Given the description of an element on the screen output the (x, y) to click on. 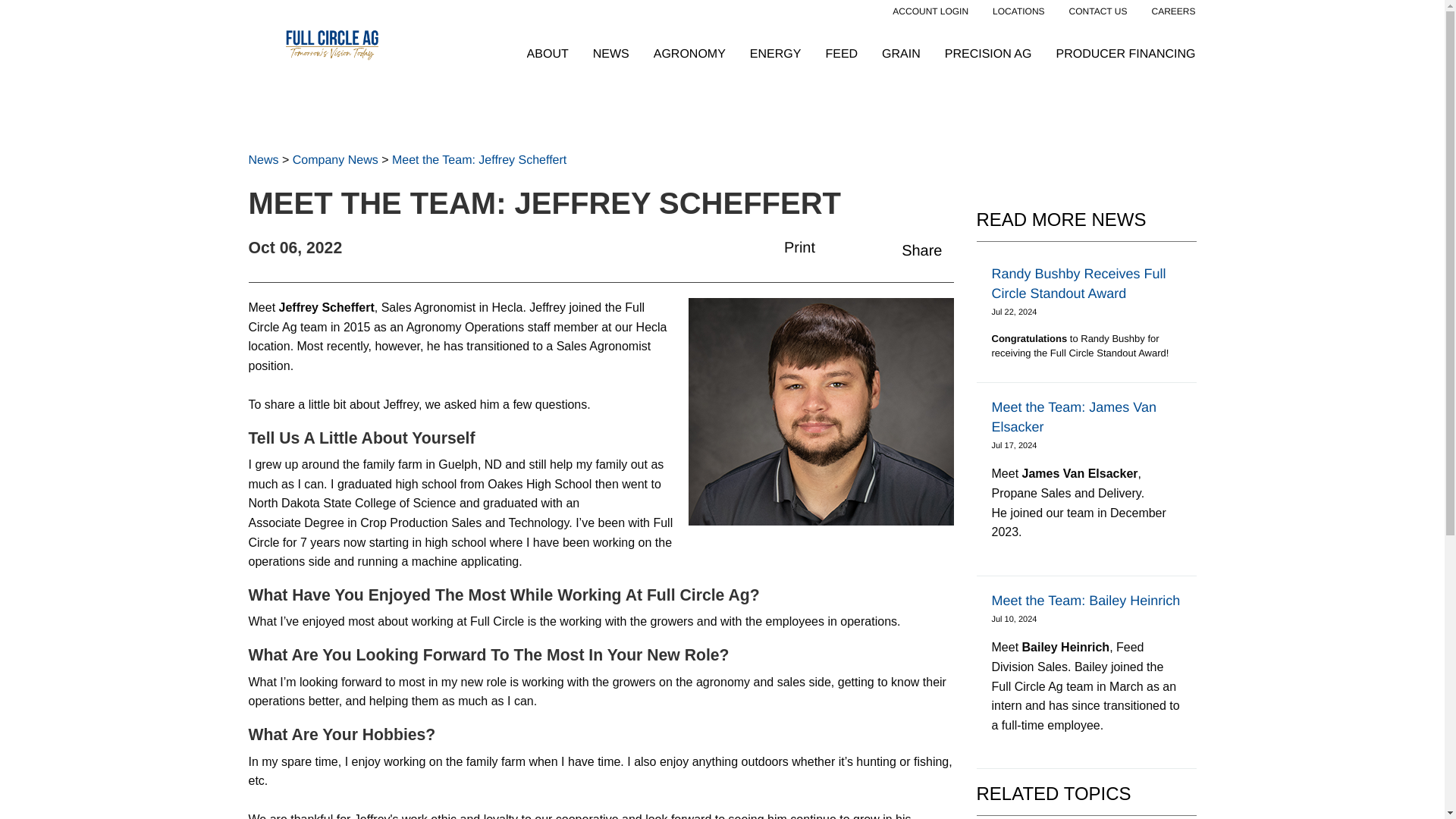
CONTACT US (1098, 11)
AGRONOMY (689, 54)
News (263, 160)
NEWS (610, 54)
Company News (335, 160)
Full Circle Ag (330, 42)
PRODUCER FINANCING (1125, 54)
LOCATIONS (1018, 11)
FEED (841, 54)
GRAIN (901, 54)
